Given the description of an element on the screen output the (x, y) to click on. 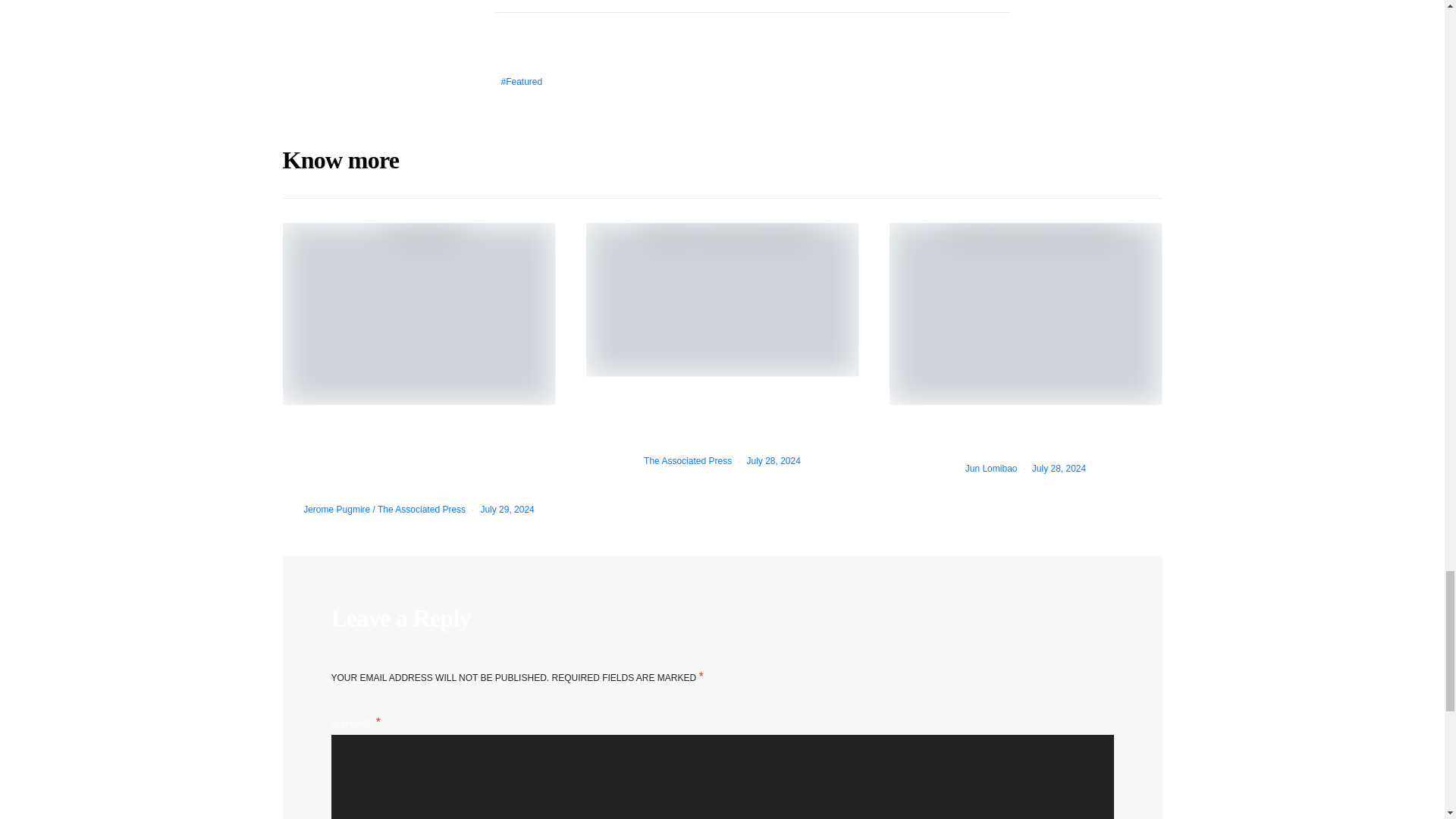
View all posts by Jun Lomibao (991, 468)
View all posts by The Associated Press (687, 460)
